Given the description of an element on the screen output the (x, y) to click on. 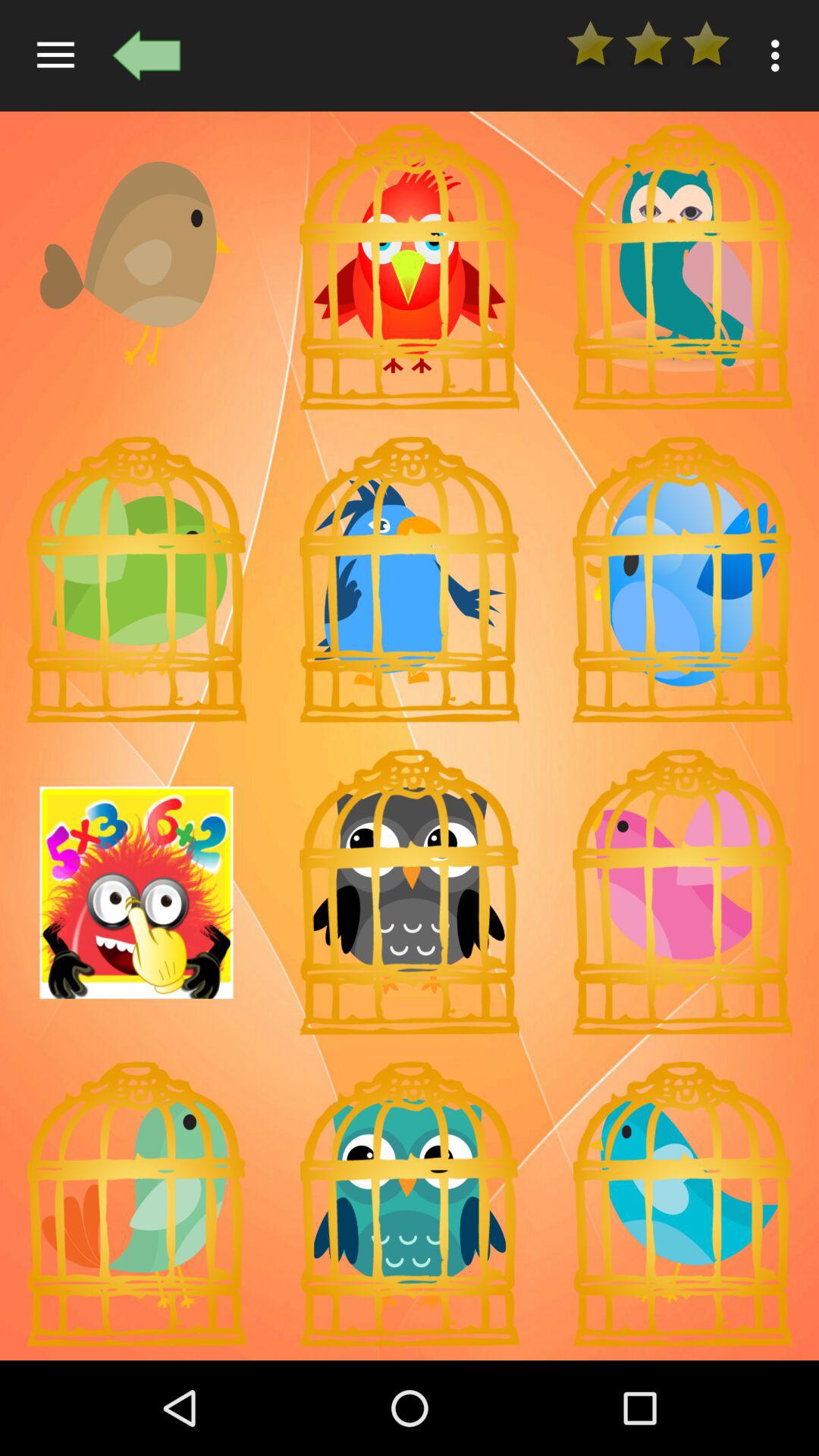
go back option (146, 55)
